Given the description of an element on the screen output the (x, y) to click on. 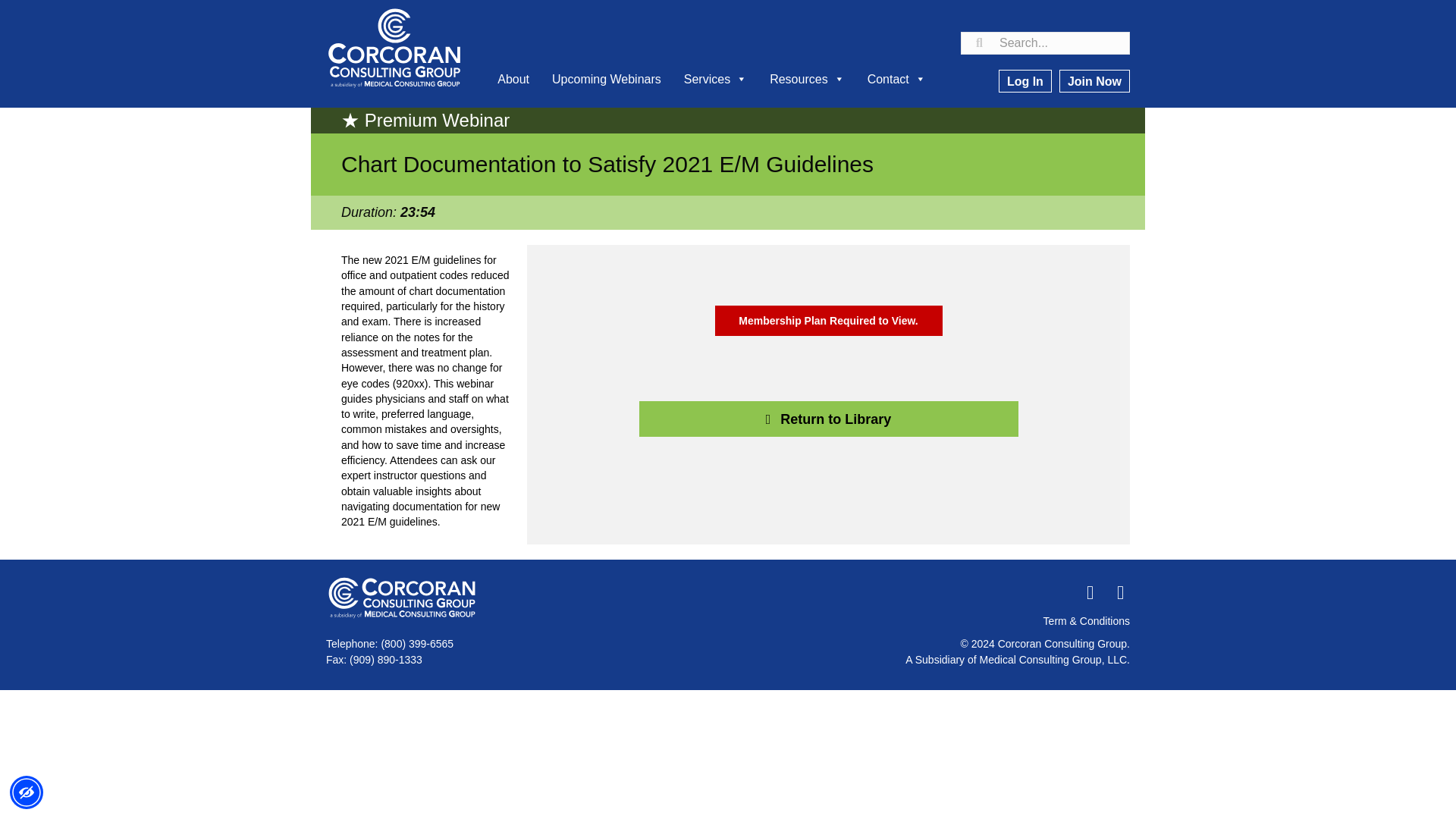
Corcoran Stacked Logo 2024-white (394, 48)
Join Now (1094, 80)
Facebook (1089, 592)
Resources (806, 79)
Contact (896, 79)
Log In (1024, 80)
About (513, 79)
LinkedIn (1119, 592)
Upcoming Webinars (606, 79)
Corcoran Logo 2024 - white (401, 597)
Services (715, 79)
